Given the description of an element on the screen output the (x, y) to click on. 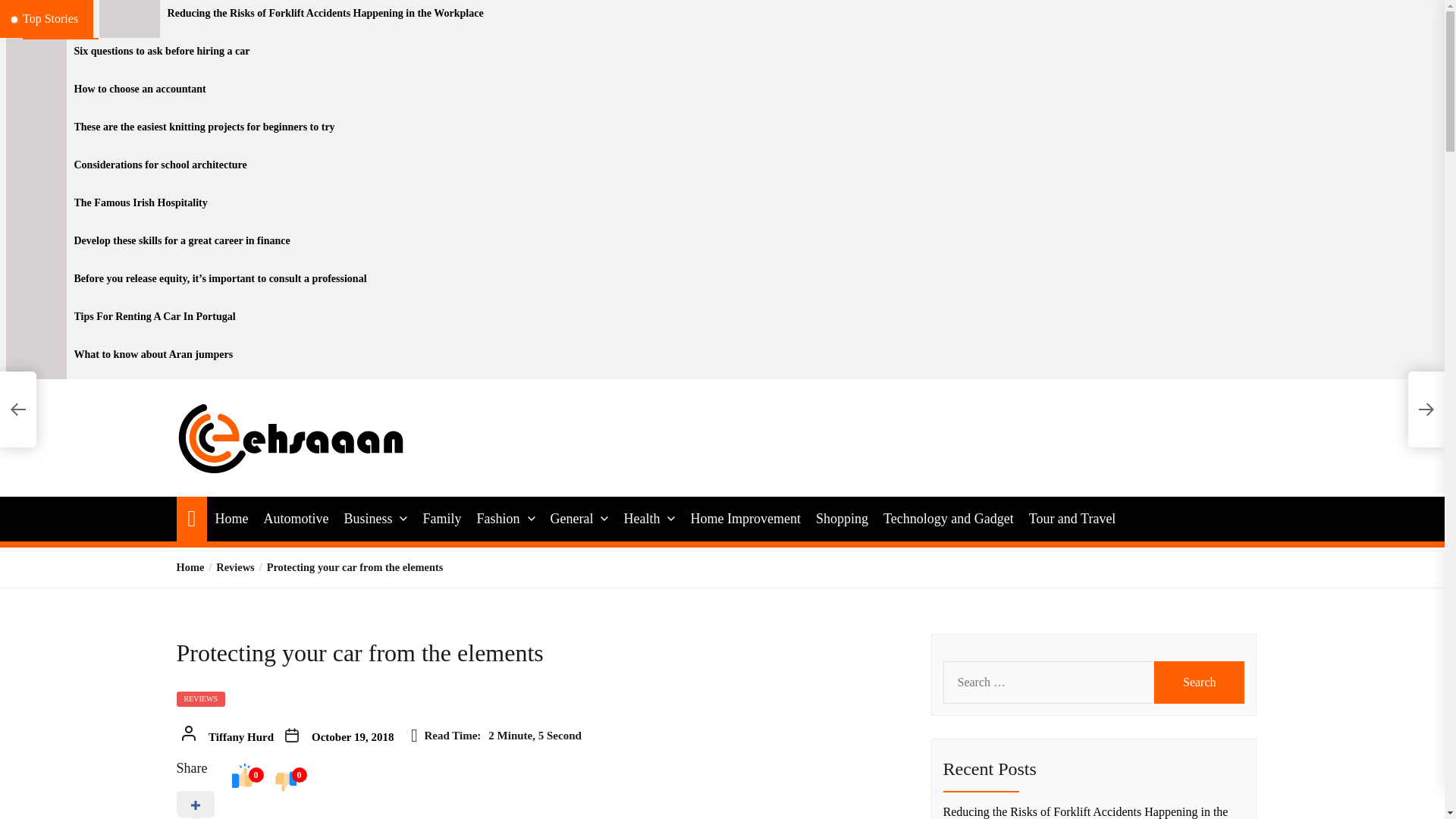
General (572, 518)
Fashion (497, 518)
Home (230, 518)
Family (441, 518)
Business (367, 518)
Search (1199, 681)
Search (1199, 681)
Automotive (296, 518)
